Given the description of an element on the screen output the (x, y) to click on. 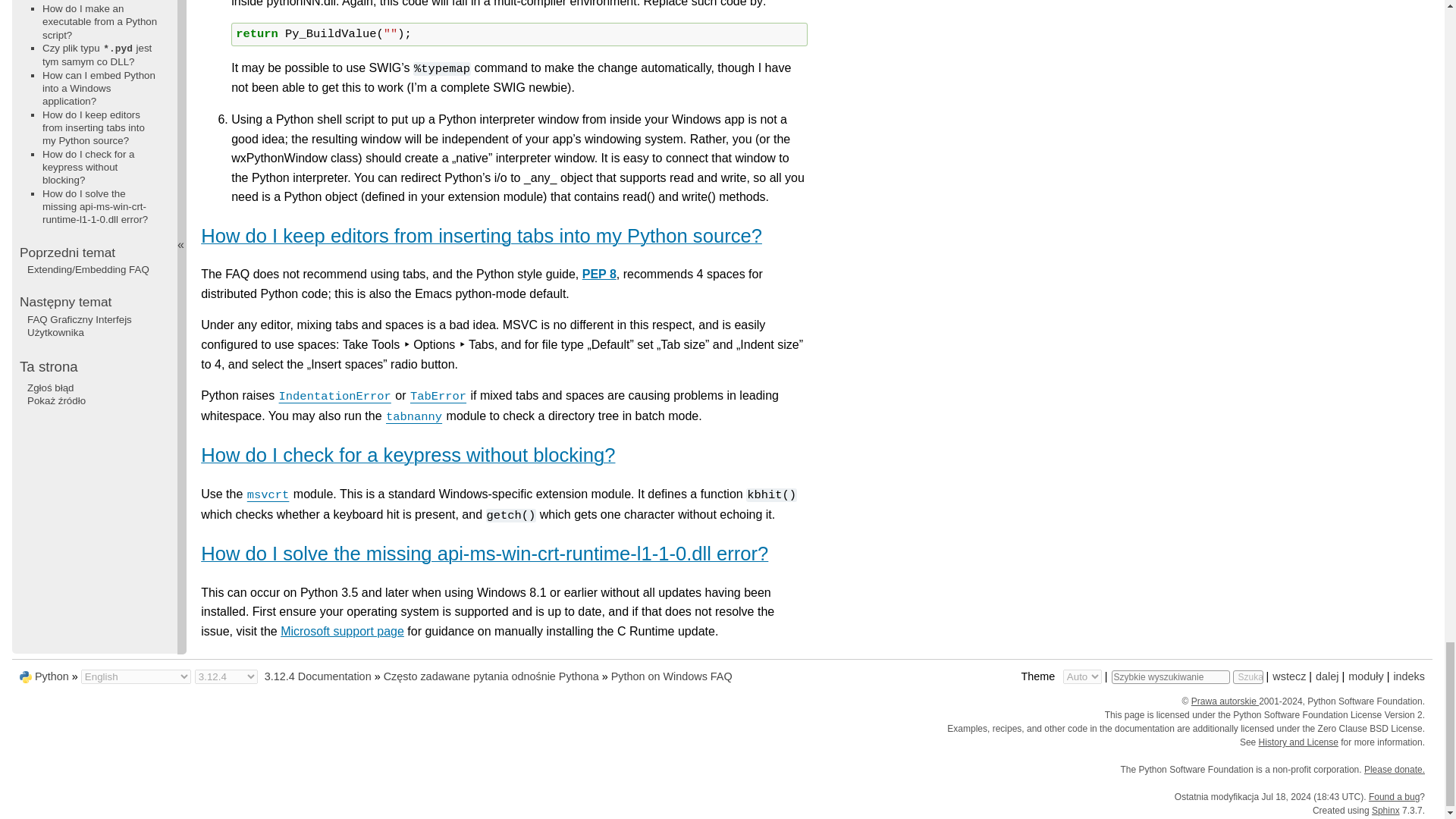
Szukaj (1248, 676)
